Given the description of an element on the screen output the (x, y) to click on. 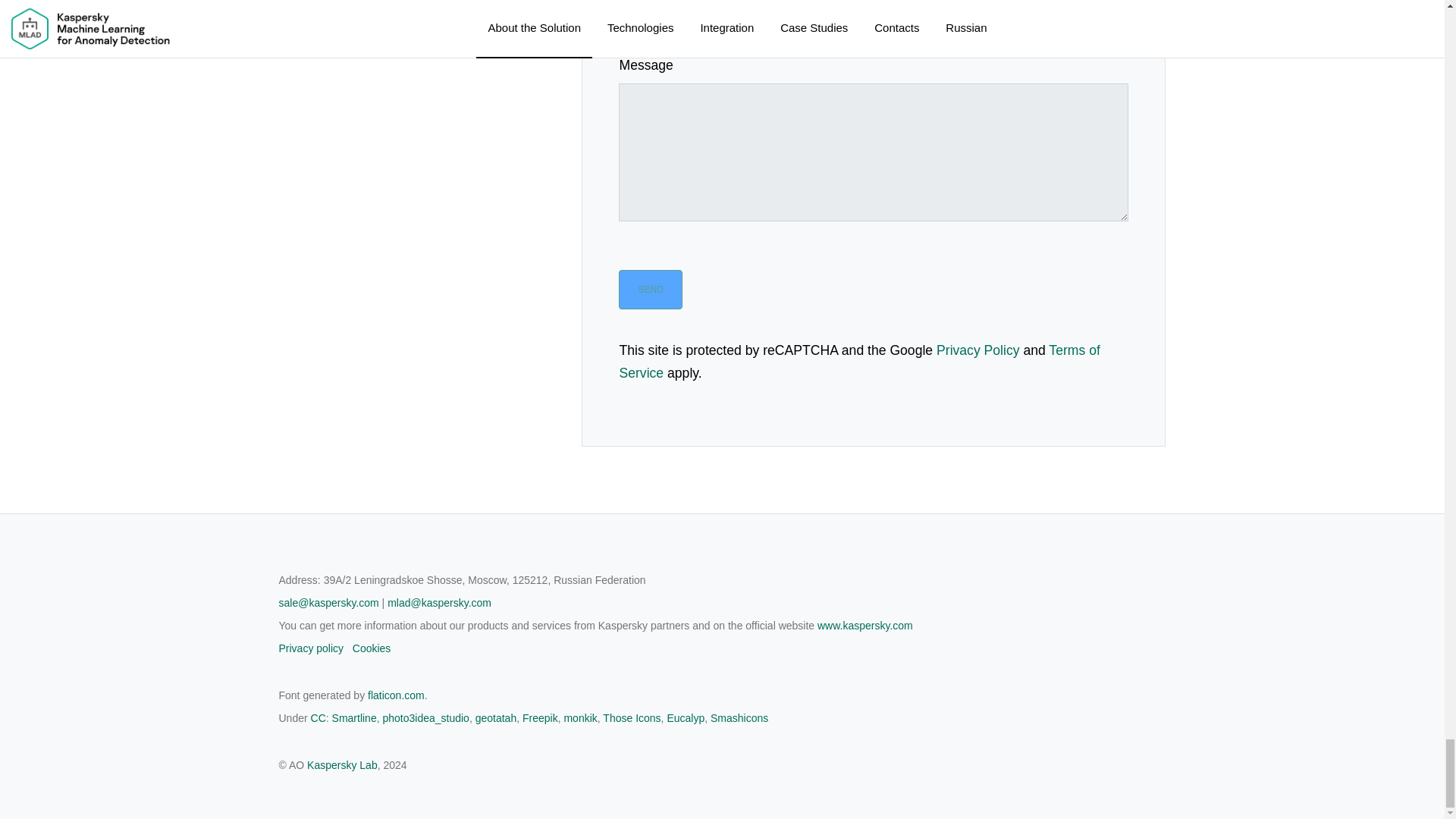
flaticon.com (396, 695)
Those Icons (631, 717)
CC (318, 717)
Eucalyp (685, 717)
monkik (579, 717)
Cookies (371, 648)
geotatah (496, 717)
Privacy policy (311, 648)
Freepik (539, 717)
www.kaspersky.com (864, 625)
Smartline (354, 717)
Terms of Service (858, 361)
Privacy Policy (978, 350)
Send (649, 289)
Send (649, 289)
